Given the description of an element on the screen output the (x, y) to click on. 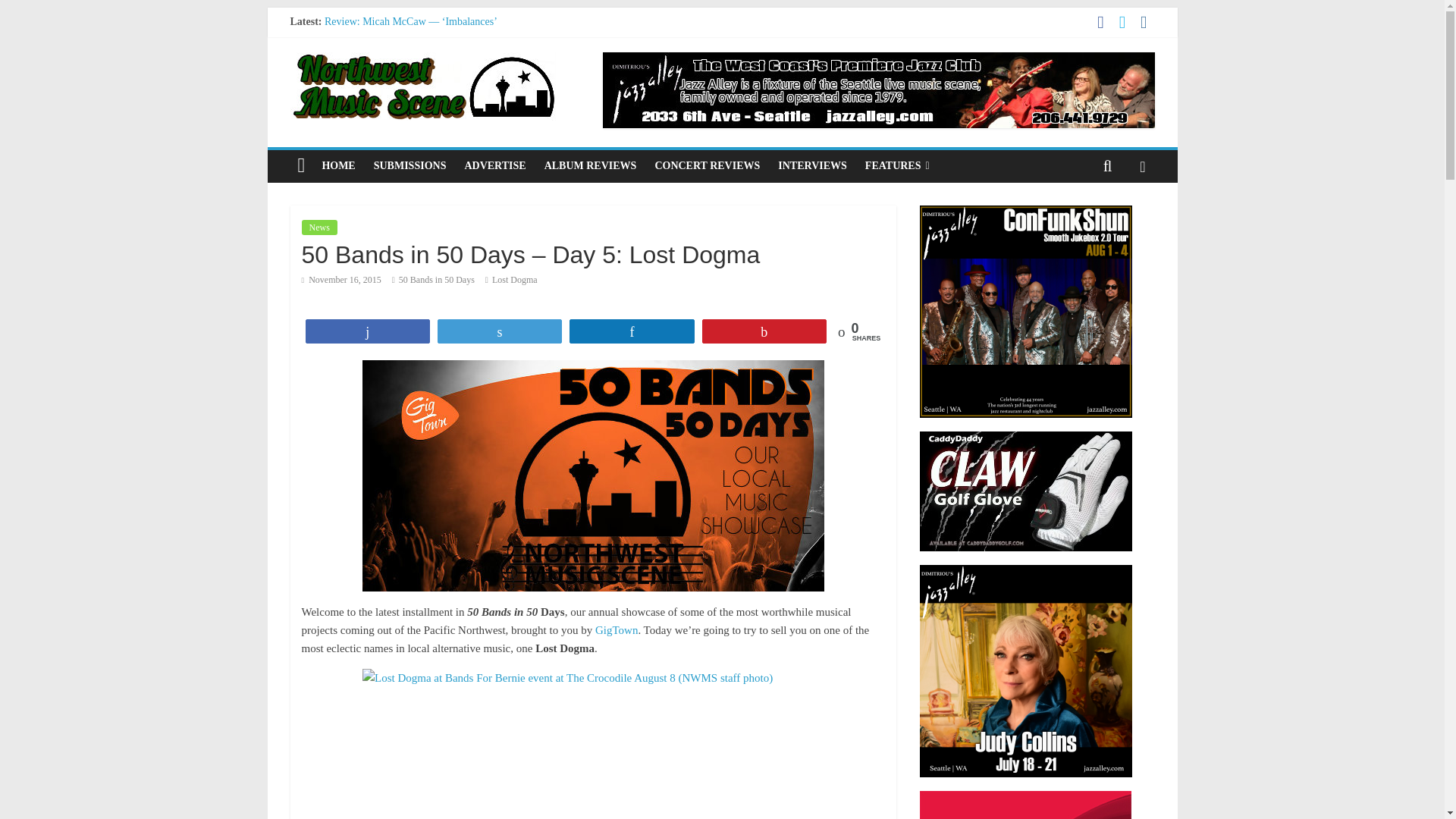
Black Fret Seattle Announces 2020 Grant Recipients (436, 55)
November 16, 2015 (341, 279)
View a random post (1142, 165)
Lost Dogma (514, 279)
50 Bands in 50 Days (436, 279)
Black Fret Seattle Announces 2020 Grant Recipients (436, 55)
FEATURES (897, 165)
ADVERTISE (494, 165)
50 Bands in 50 Days (436, 279)
HOME (338, 165)
NorthWest Music Scene (301, 165)
News (319, 227)
SUBMISSIONS (410, 165)
CONCERT REVIEWS (706, 165)
